Given the description of an element on the screen output the (x, y) to click on. 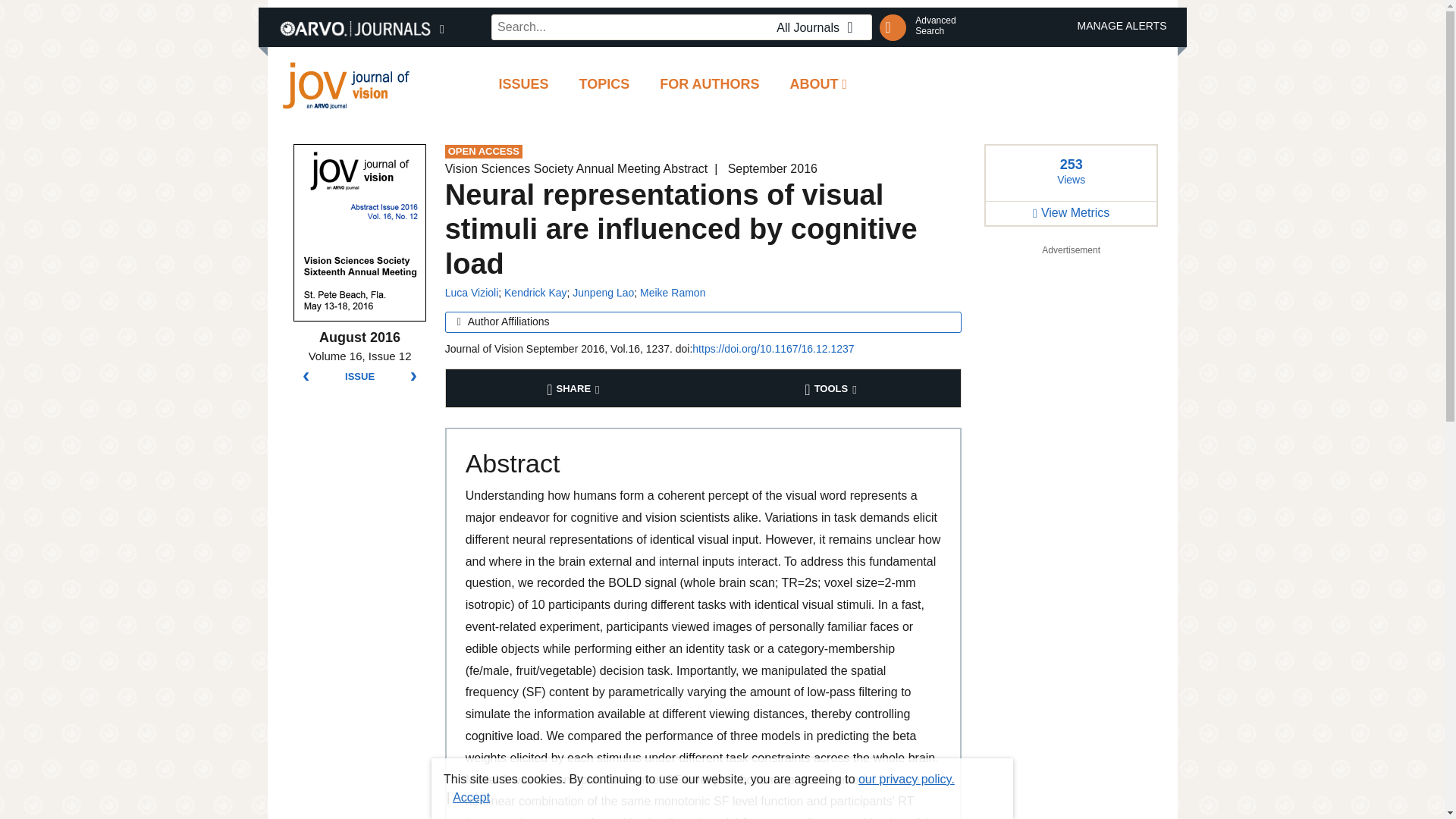
FOR AUTHORS (709, 84)
TOPICS (604, 84)
Meike Ramon (672, 292)
ISSUES (523, 84)
Kendrick Kay (534, 292)
Luca Vizioli (472, 292)
ABOUT (818, 84)
ISSUE (359, 377)
All Journals (819, 27)
Junpeng Lao (602, 292)
